Given the description of an element on the screen output the (x, y) to click on. 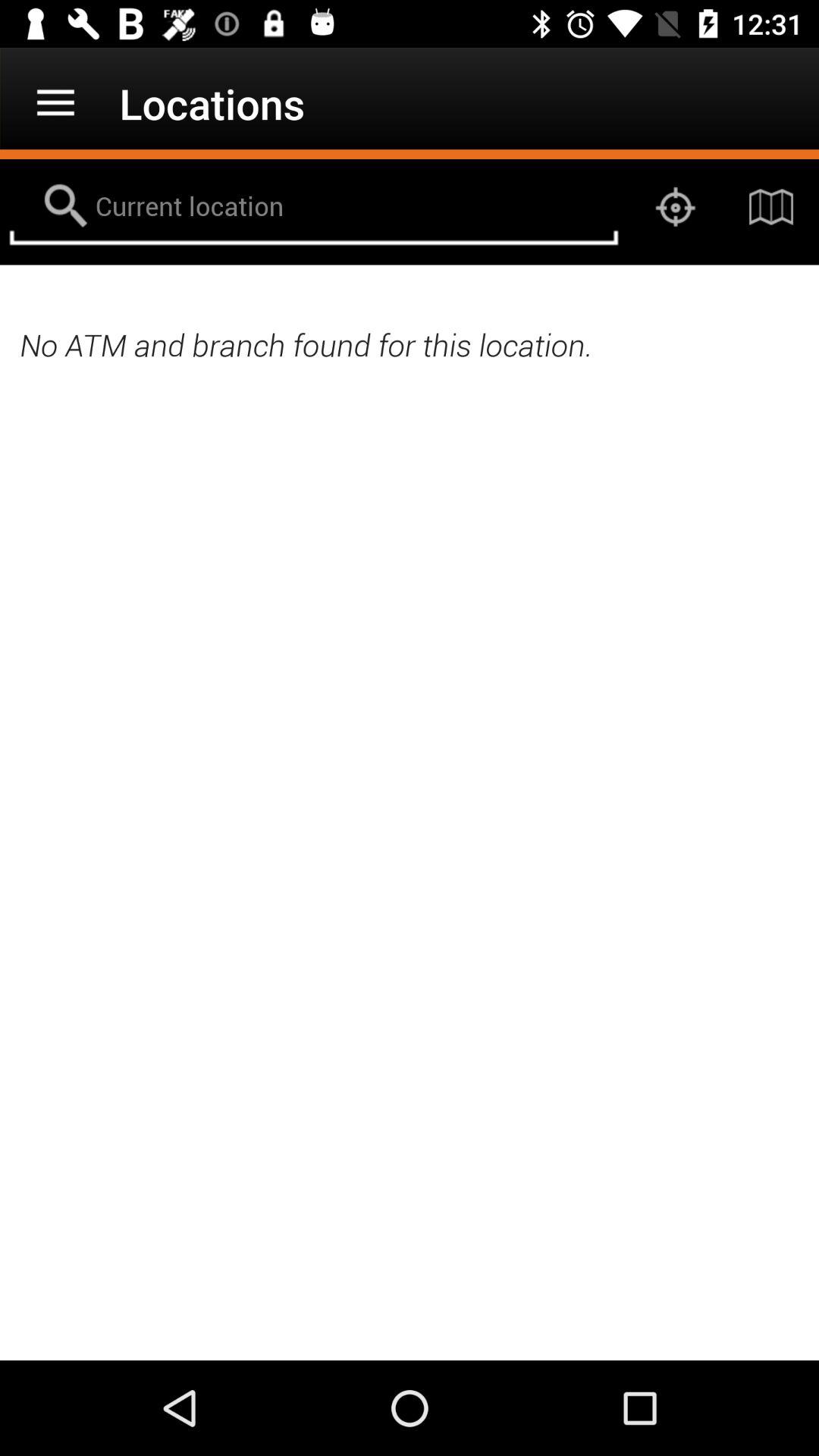
choose the no atm and item (409, 344)
